Given the description of an element on the screen output the (x, y) to click on. 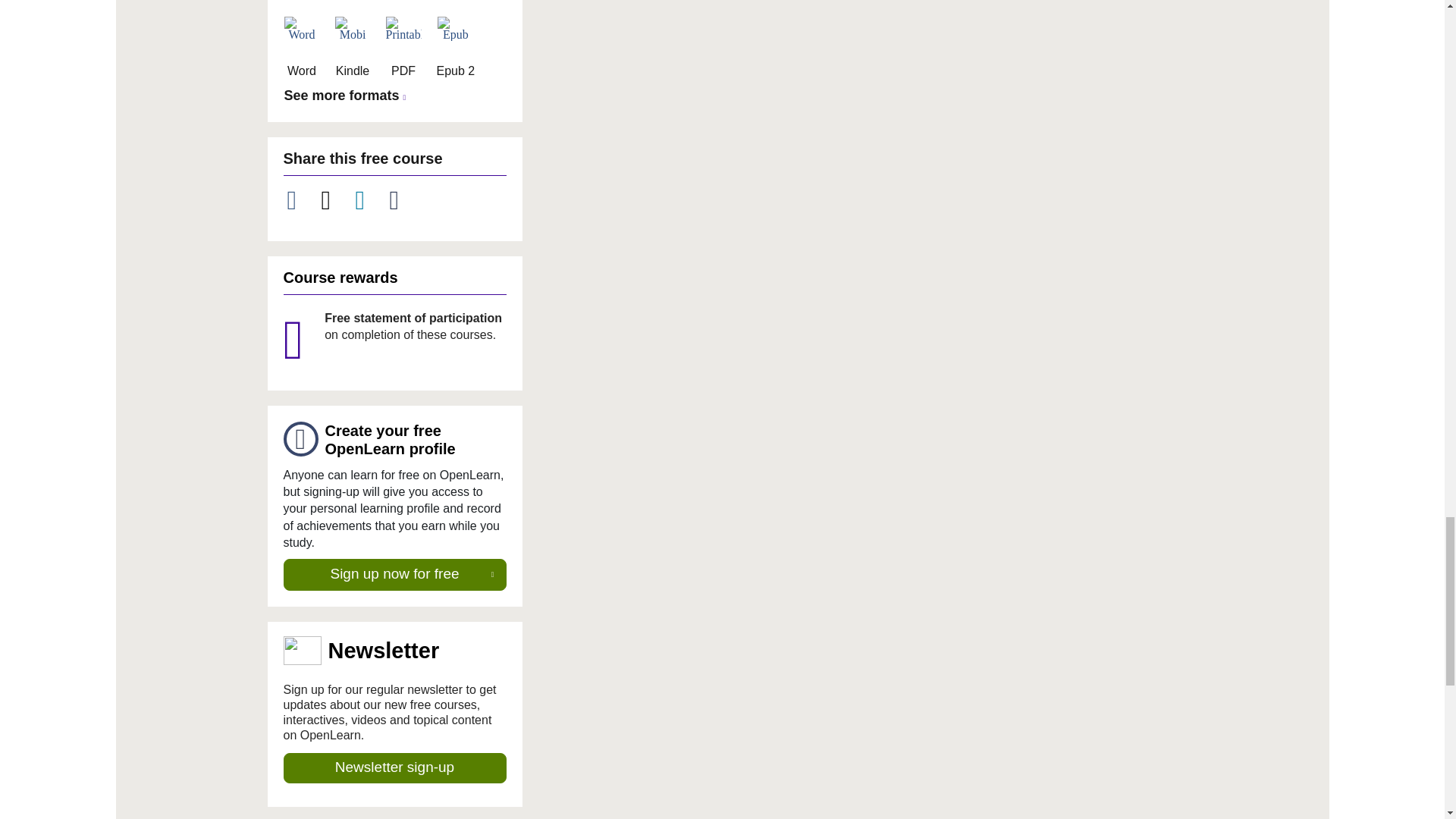
Share via Email (403, 200)
Share on LinkedIn (368, 200)
See more formats (347, 95)
Share on Facebook (299, 200)
Share on Twitter (334, 200)
Sign up now for free (394, 574)
